Given the description of an element on the screen output the (x, y) to click on. 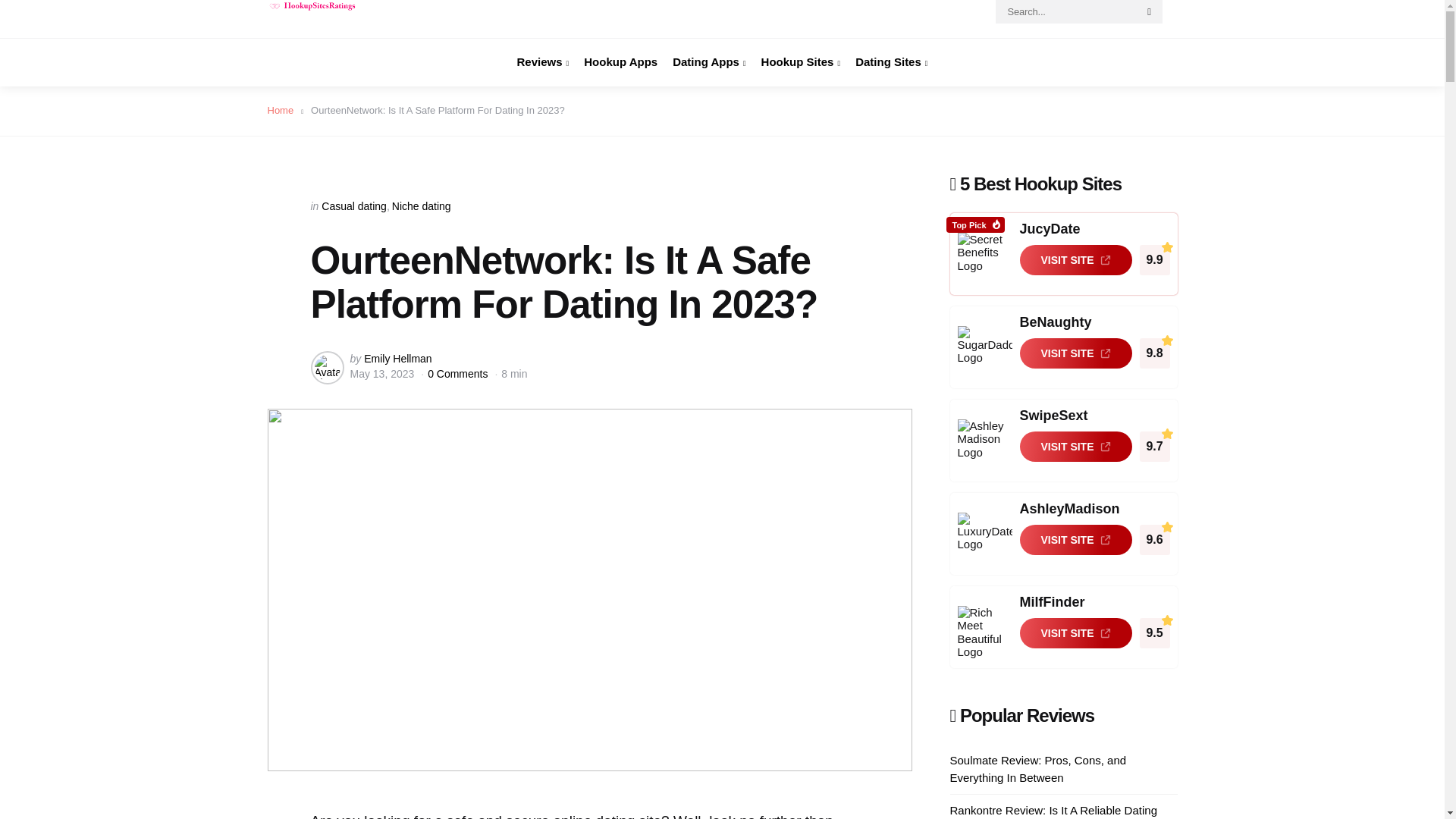
Search (1149, 11)
